Given the description of an element on the screen output the (x, y) to click on. 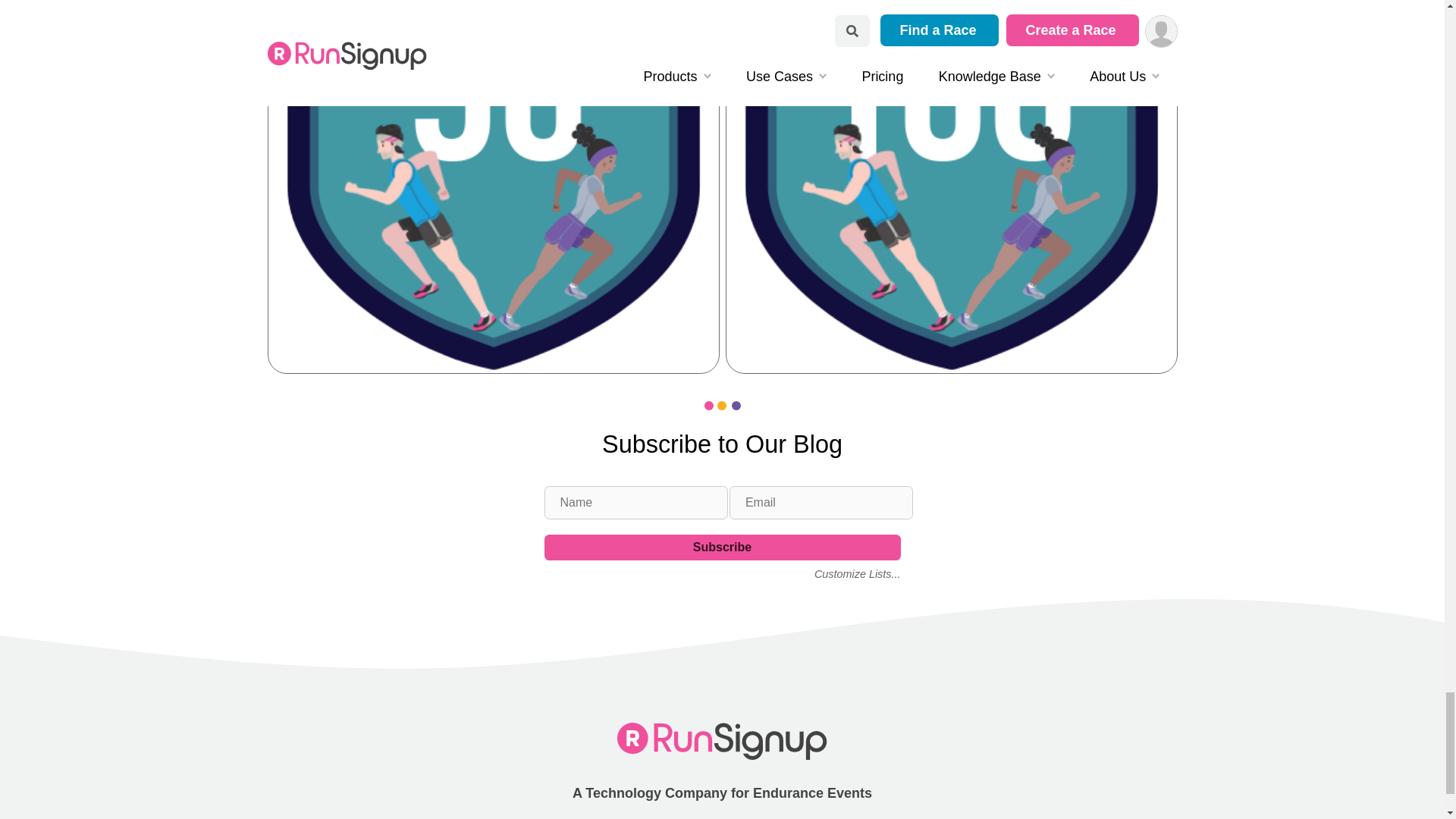
Subscribe (722, 547)
